Given the description of an element on the screen output the (x, y) to click on. 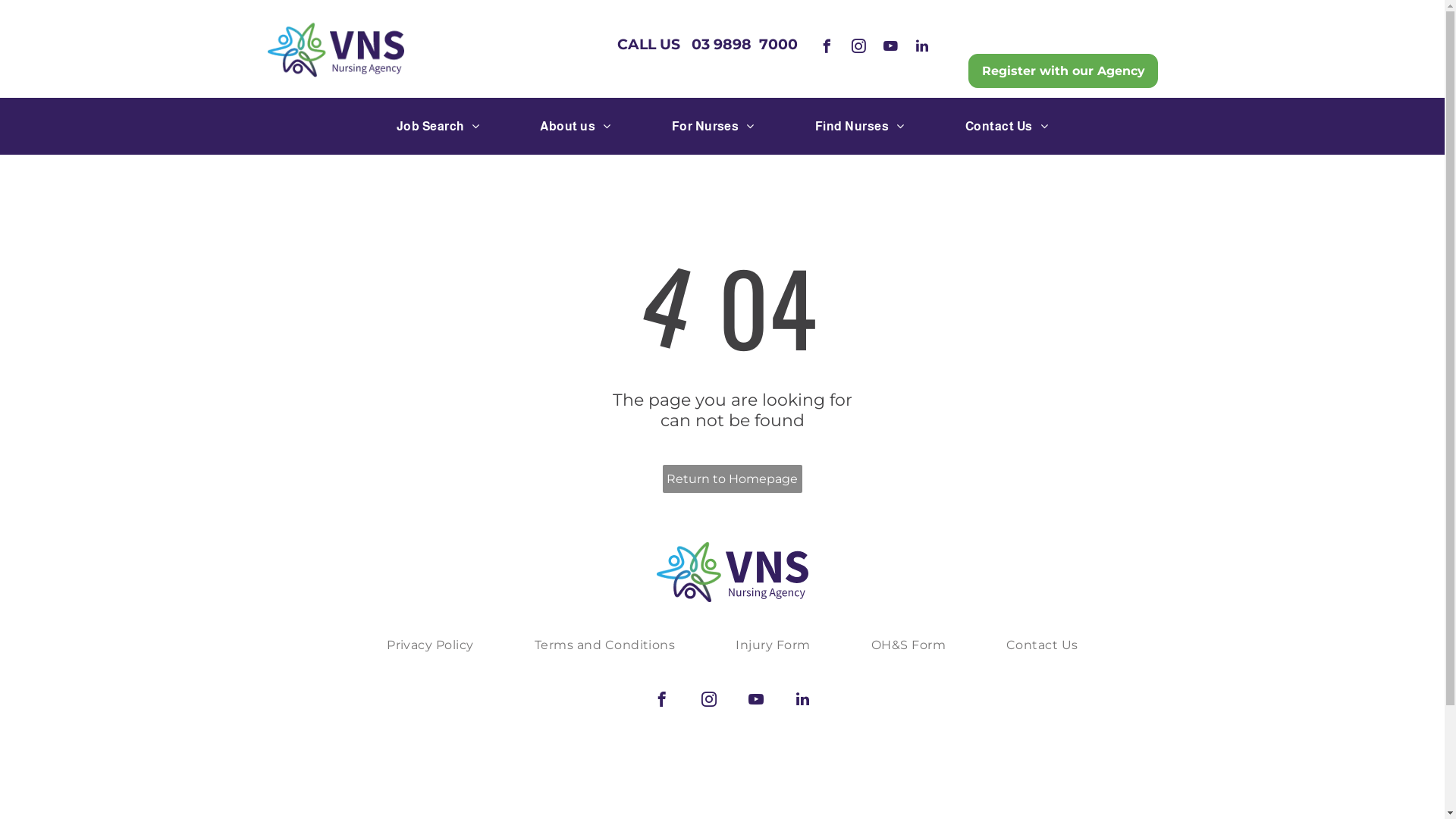
Injury Form Element type: text (772, 644)
CALL US   03 9898  7000 Element type: text (707, 44)
Contact Us Element type: text (1041, 644)
Job Search Element type: text (437, 125)
About us Element type: text (574, 125)
Find Nurses Element type: text (859, 125)
Register with our Agency Element type: text (1062, 70)
OH&S Form Element type: text (907, 644)
For Nurses Element type: text (712, 125)
Privacy Policy Element type: text (430, 644)
Return to Homepage Element type: text (732, 478)
Contact Us Element type: text (1006, 125)
Terms and Conditions Element type: text (605, 644)
